Given the description of an element on the screen output the (x, y) to click on. 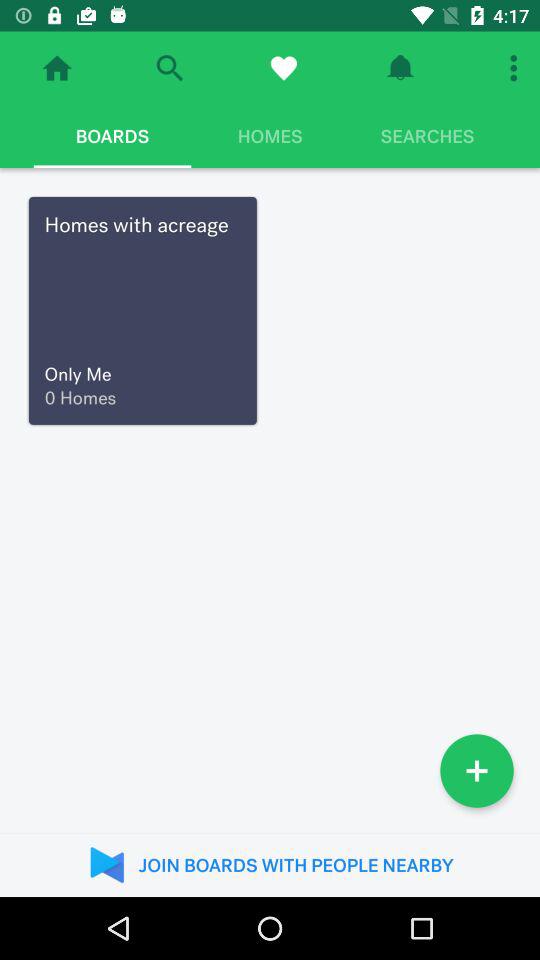
click join boards with item (269, 864)
